Given the description of an element on the screen output the (x, y) to click on. 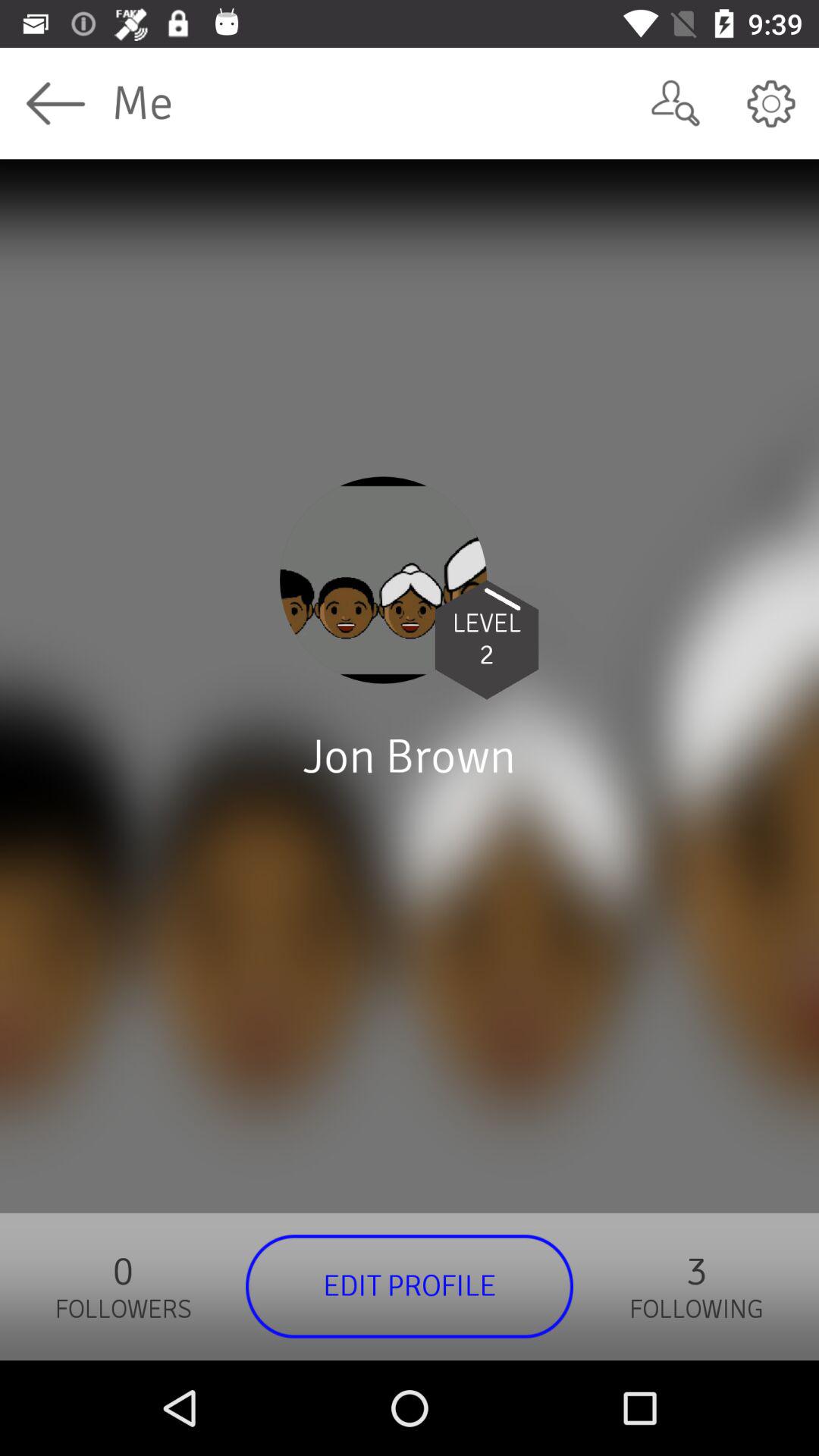
go back (55, 103)
